Given the description of an element on the screen output the (x, y) to click on. 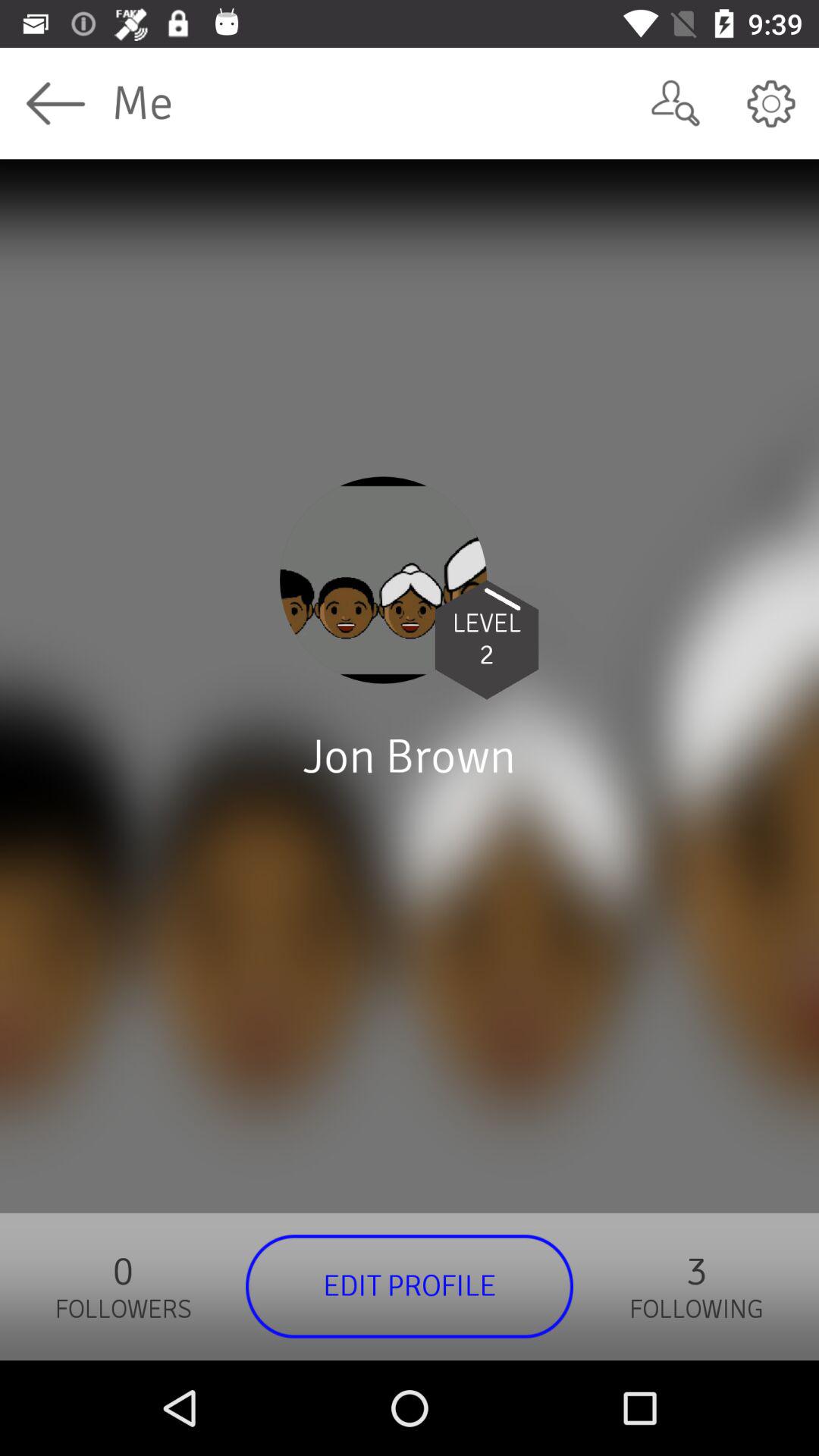
go back (55, 103)
